Given the description of an element on the screen output the (x, y) to click on. 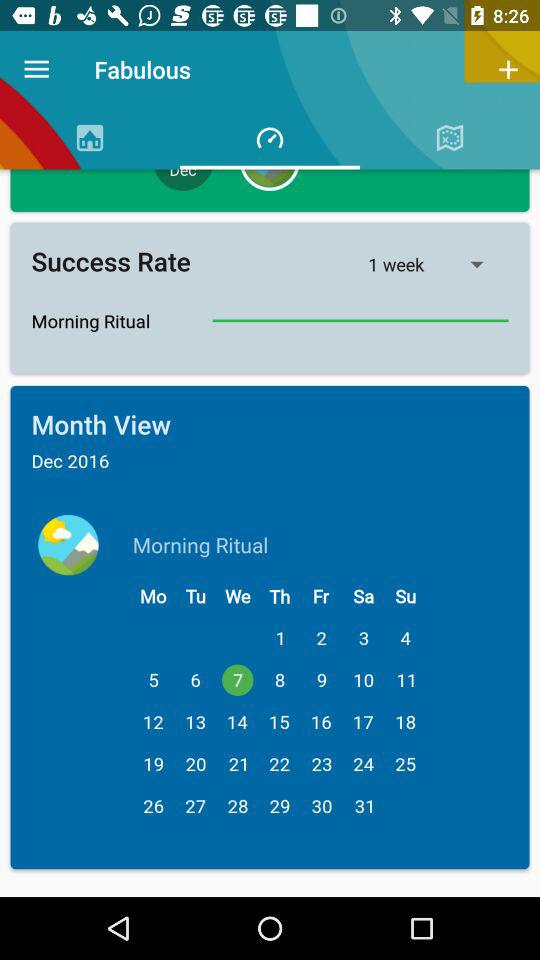
click on the earth icon which is to the left of morning ritual (67, 544)
click plus icon (508, 69)
select the symbol right to timer (450, 137)
click on text which is beside success rate (438, 264)
